Given the description of an element on the screen output the (x, y) to click on. 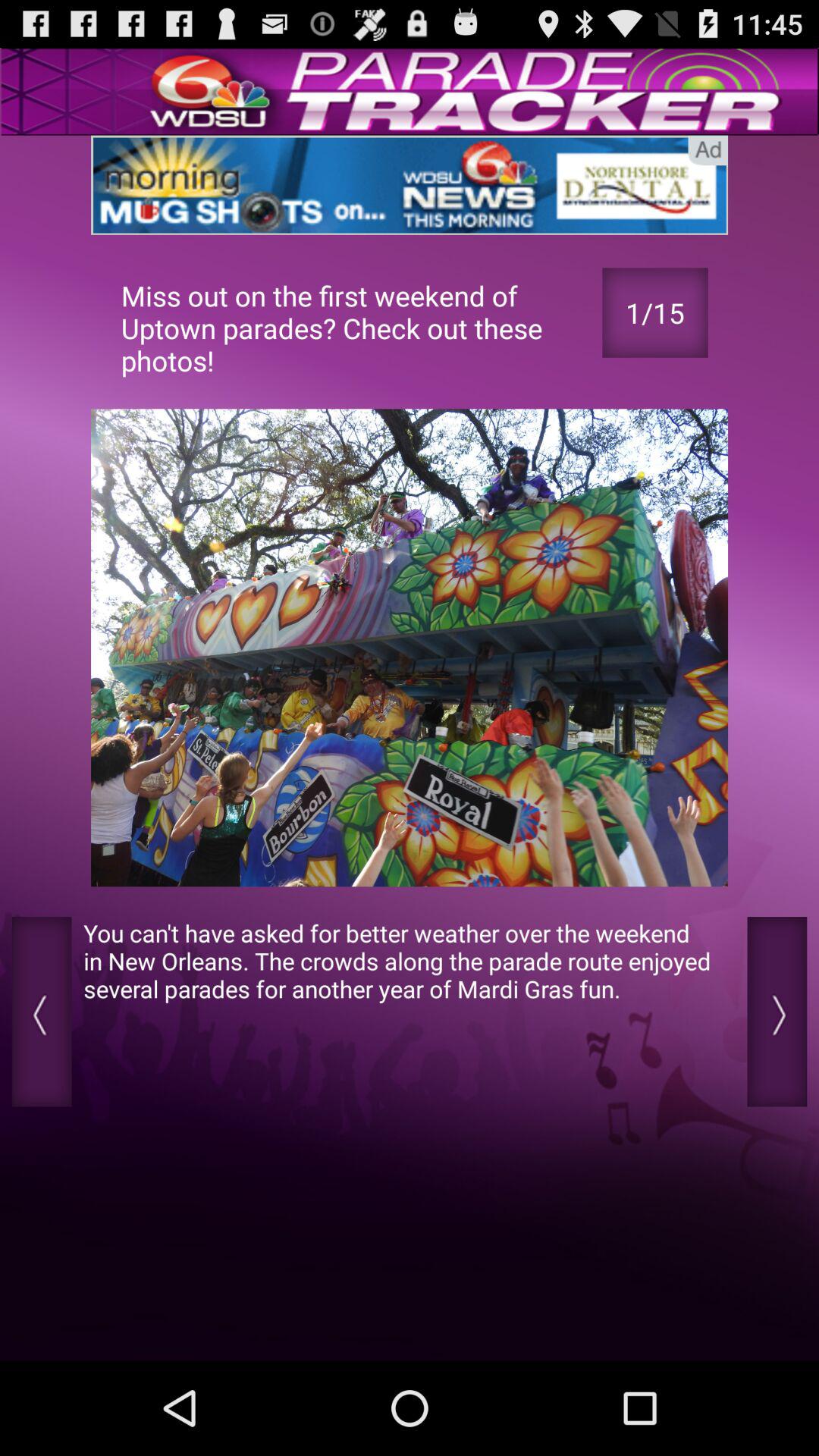
go to advertiser (409, 184)
